Given the description of an element on the screen output the (x, y) to click on. 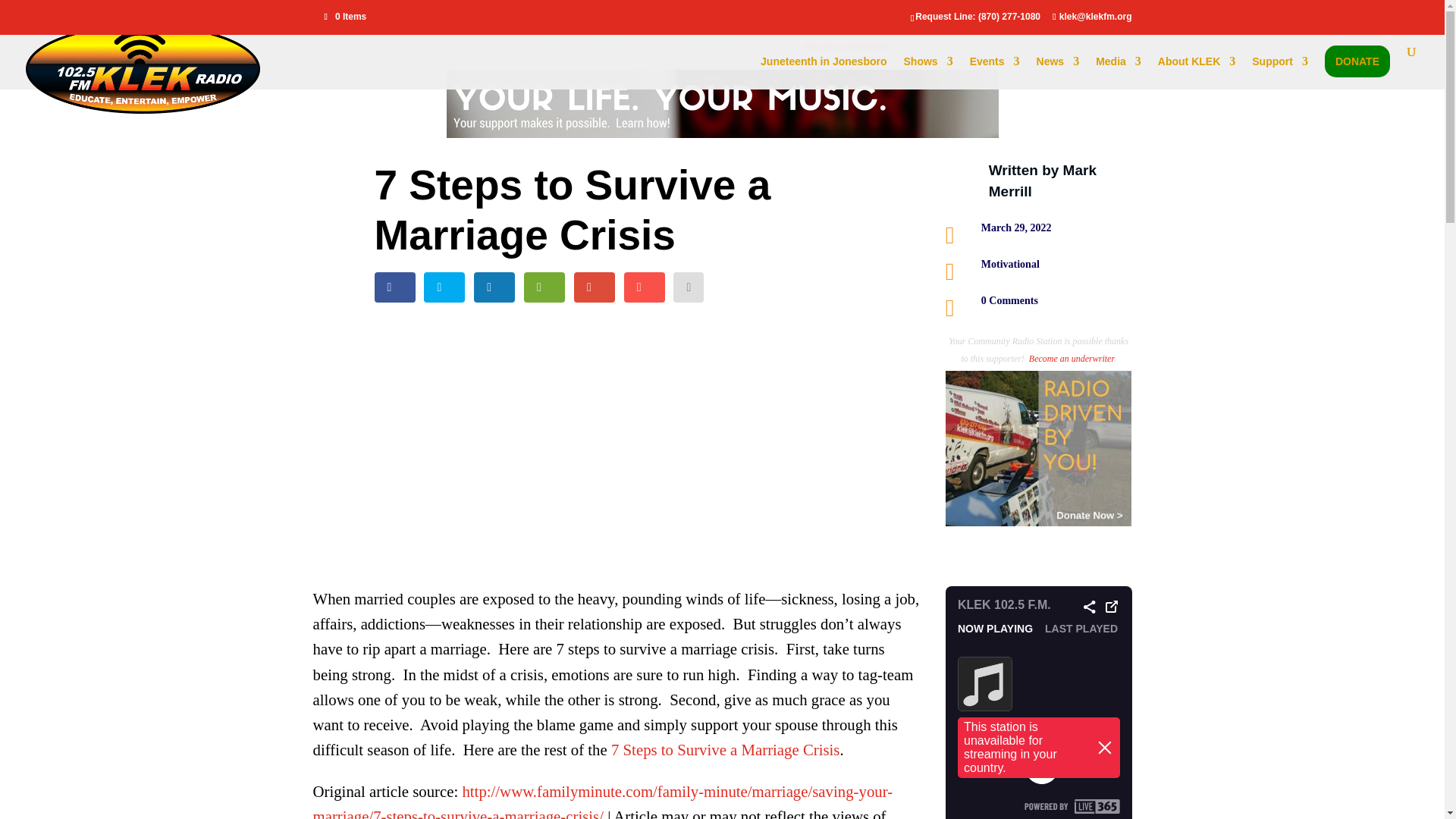
DONATE (1356, 72)
Juneteenth in Jonesboro (823, 72)
Media (1118, 72)
Support (1279, 72)
About KLEK (1195, 72)
0 Items (345, 16)
Shows (928, 72)
News (1058, 72)
Become an underwriter (845, 46)
Events (994, 72)
